Given the description of an element on the screen output the (x, y) to click on. 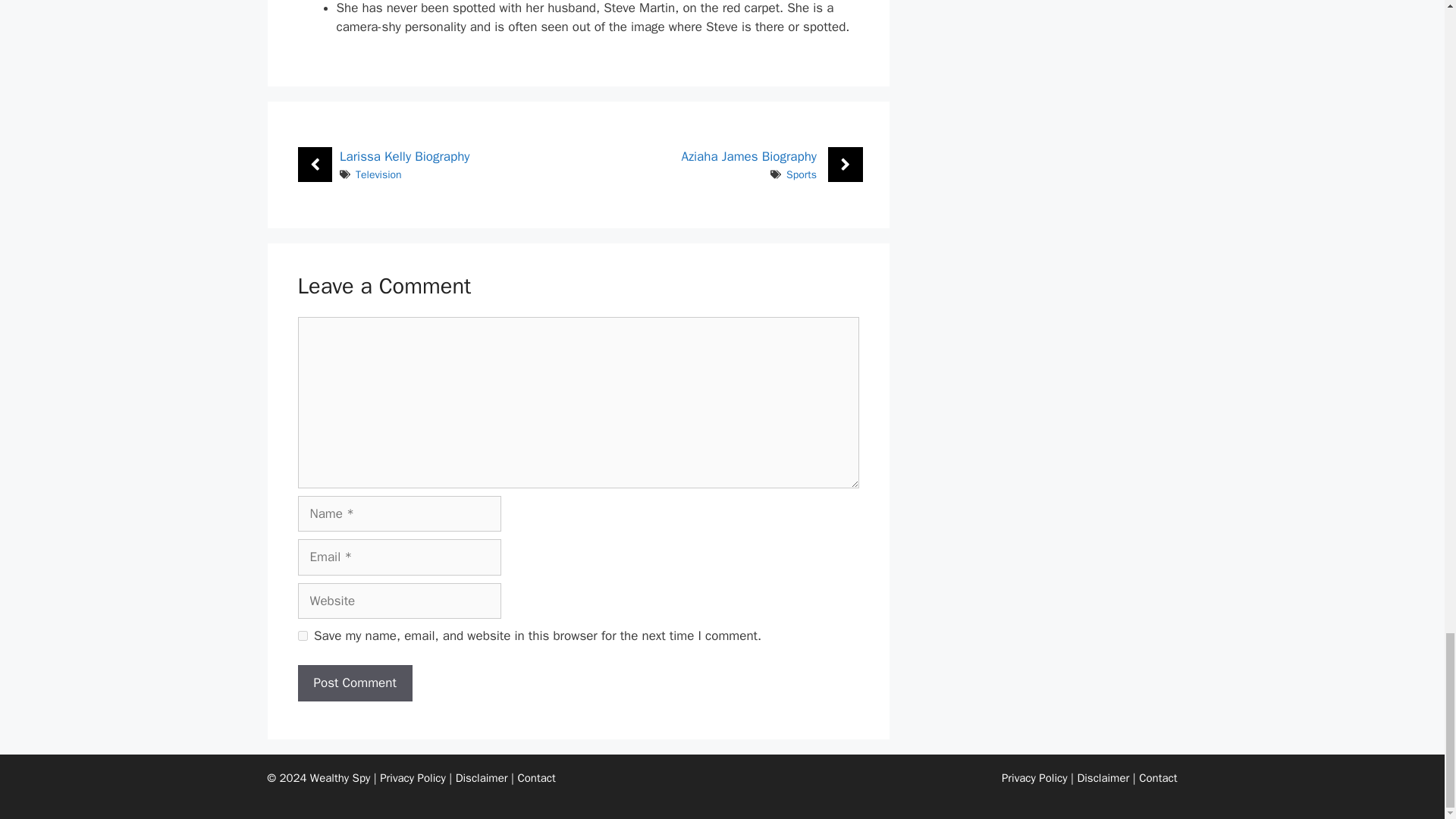
Television (378, 174)
yes (302, 635)
Aziaha James Biography (748, 156)
Larissa Kelly Biography (403, 156)
Post Comment (354, 683)
Sports (801, 174)
Post Comment (354, 683)
